Given the description of an element on the screen output the (x, y) to click on. 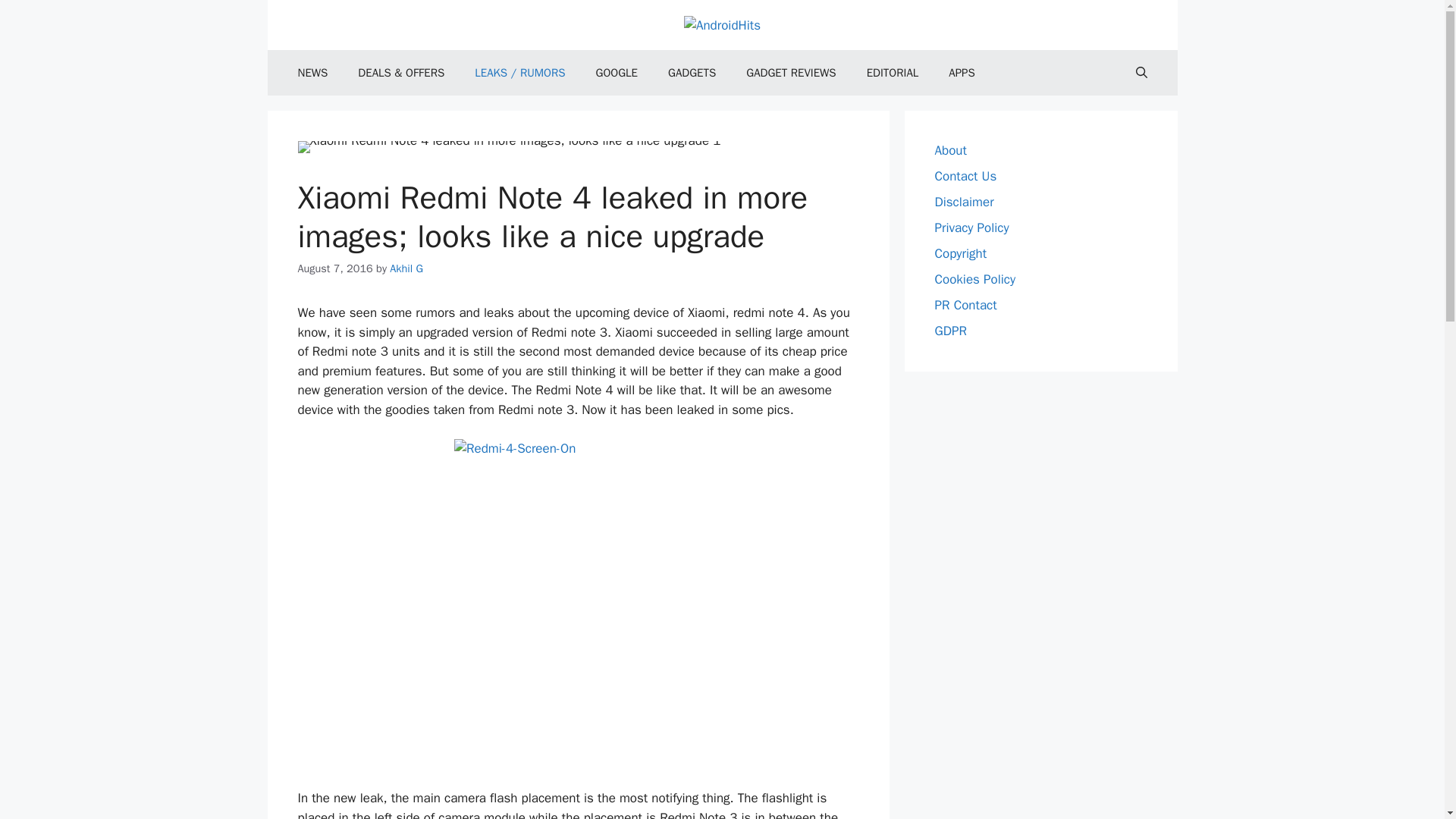
Disclaimer (963, 201)
EDITORIAL (892, 72)
Copyright (960, 253)
Akhil G (406, 268)
NEWS (312, 72)
APPS (961, 72)
About (950, 150)
GDPR (950, 330)
Privacy Policy (971, 227)
